Given the description of an element on the screen output the (x, y) to click on. 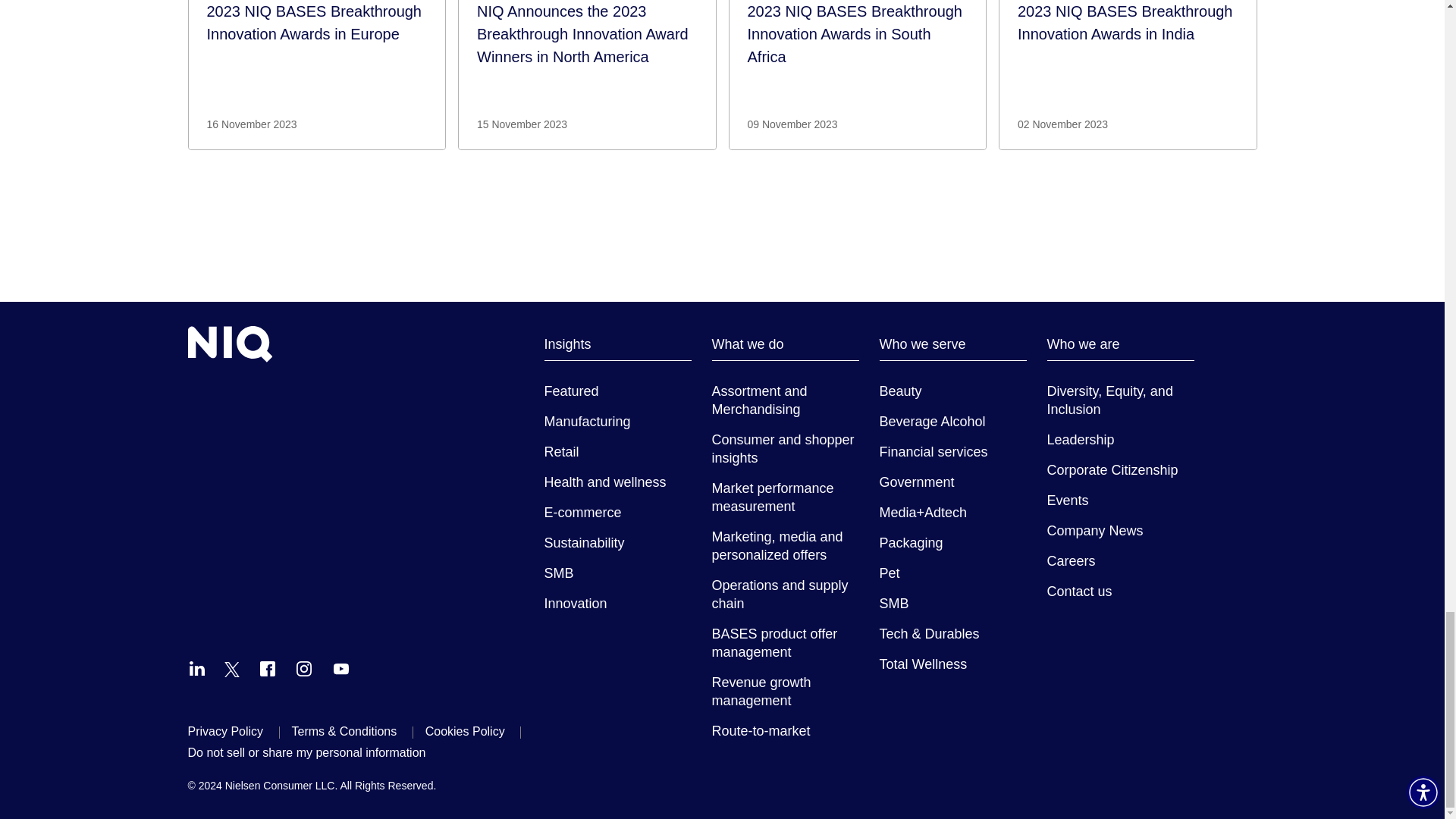
YouTube (340, 669)
Facebook (266, 669)
Linkedin (196, 669)
Instagram (304, 669)
